Given the description of an element on the screen output the (x, y) to click on. 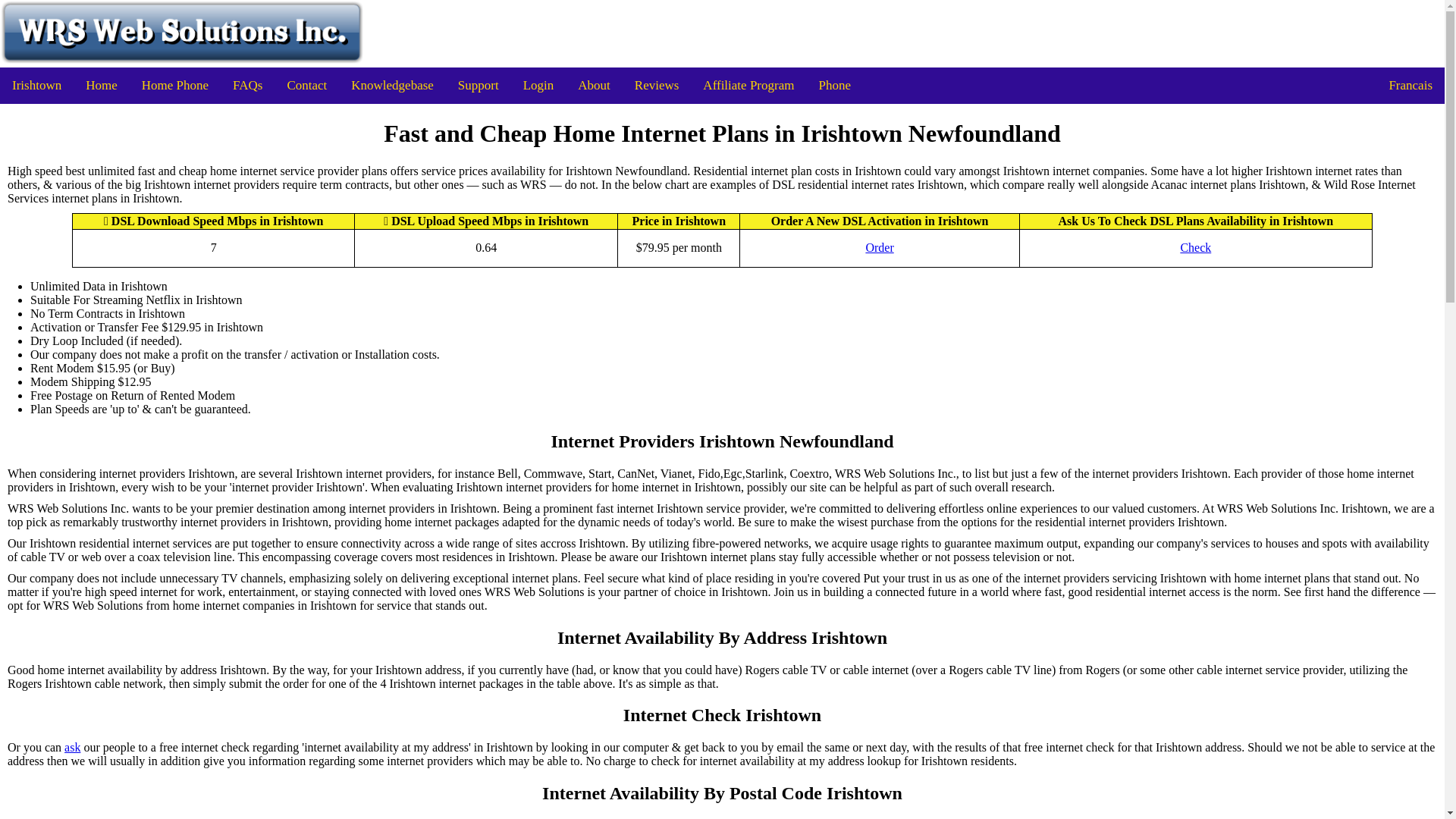
Support (478, 85)
FAQs (248, 85)
Irishtown (37, 85)
Order (878, 247)
Reviews (657, 85)
Phone (834, 85)
Affiliate Program (748, 85)
Contact (307, 85)
Knowledgebase (392, 85)
Home (101, 85)
